Given the description of an element on the screen output the (x, y) to click on. 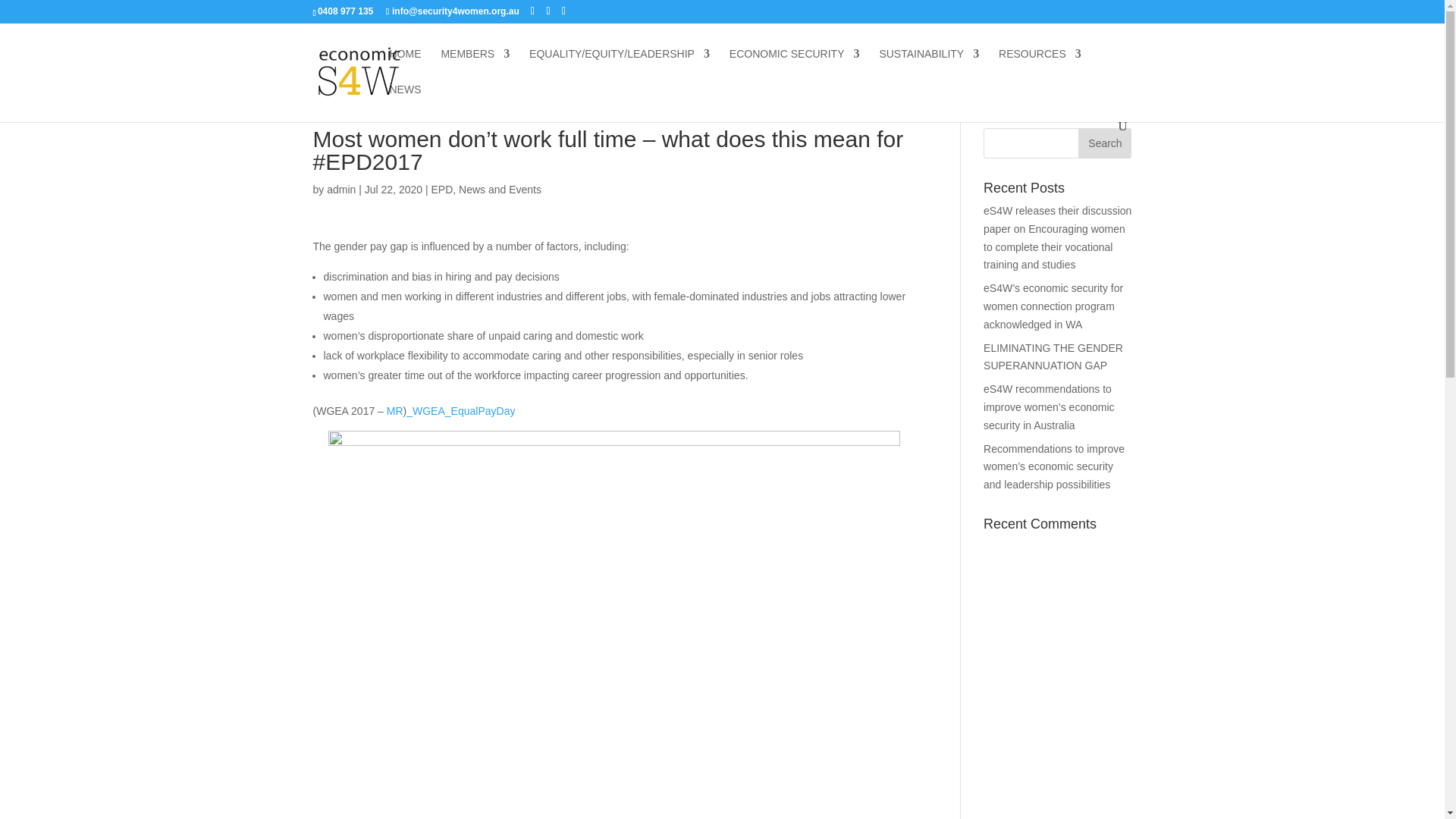
HOME (406, 66)
MEMBERS (475, 66)
Search (1104, 142)
ECONOMIC SECURITY (794, 66)
Posts by admin (340, 189)
